Given the description of an element on the screen output the (x, y) to click on. 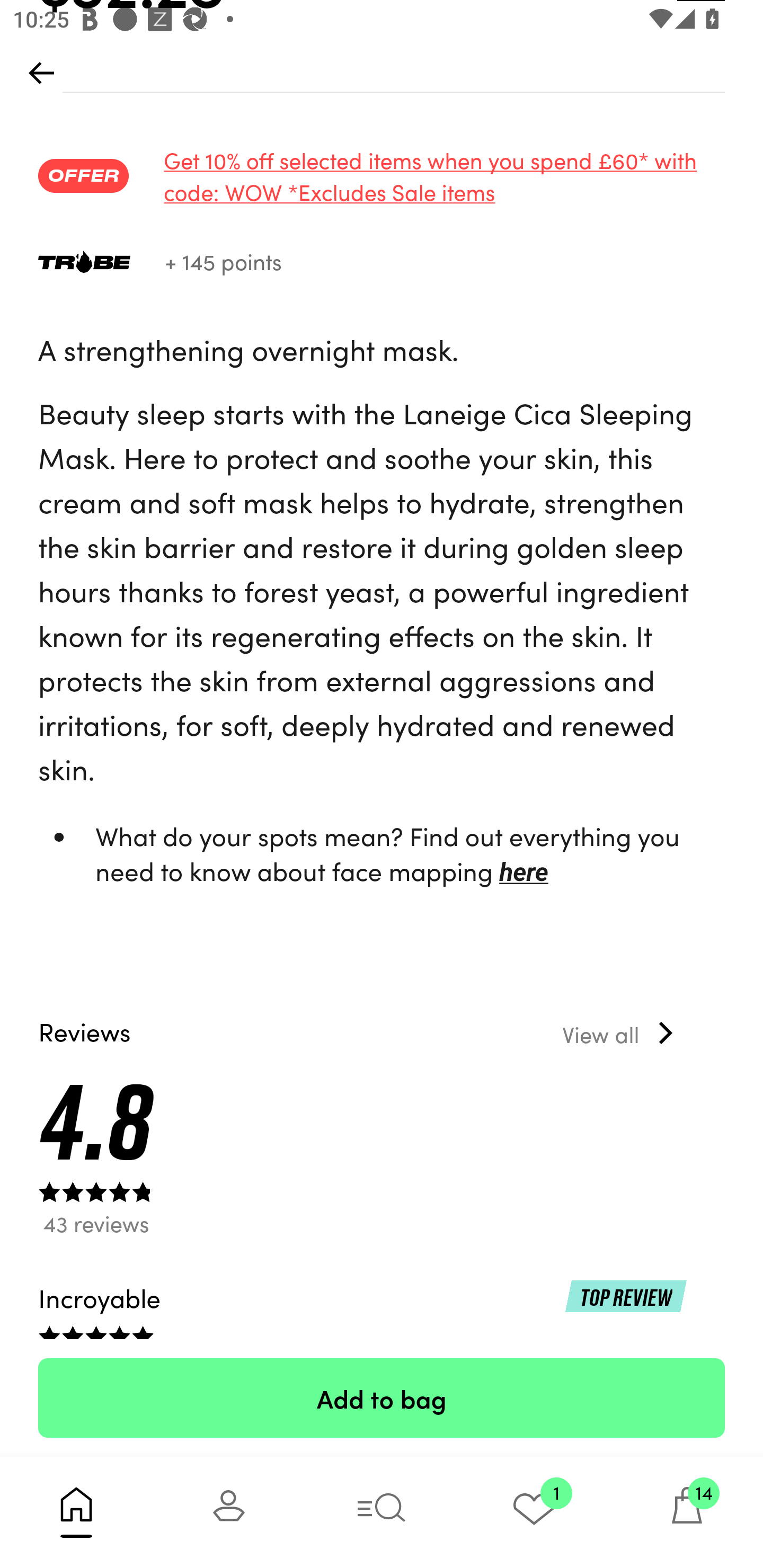
Add to bag (381, 1397)
1 (533, 1512)
14 (686, 1512)
